Given the description of an element on the screen output the (x, y) to click on. 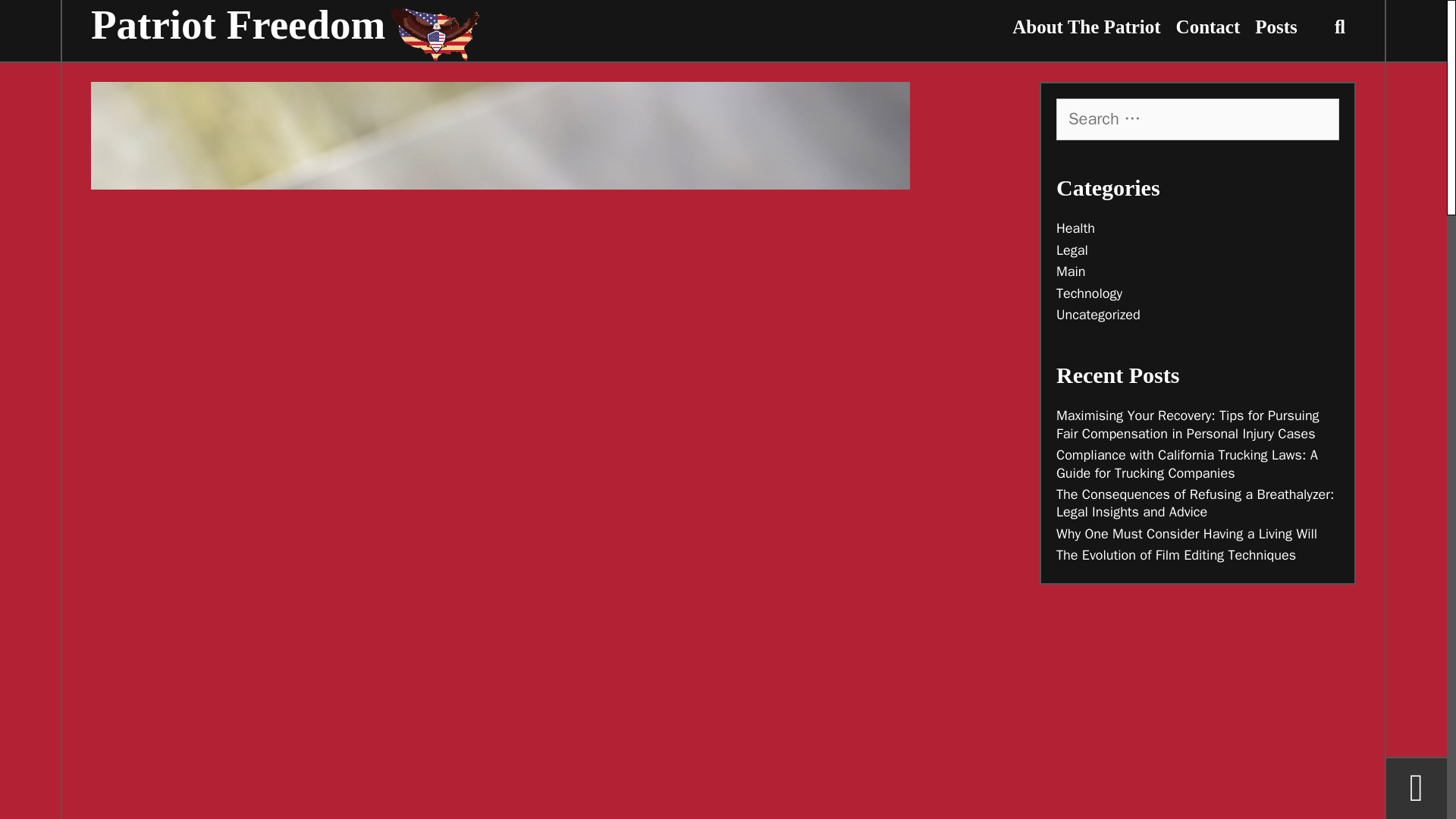
Search for: (1198, 119)
Search (40, 21)
Posts (1275, 27)
Patriot Freedom (476, 33)
The Evolution of Film Editing Techniques (1176, 555)
Contact (1208, 27)
Search (177, 27)
Patriot Freedom (476, 33)
Legal (1072, 249)
Why One Must Consider Having a Living Will (1187, 533)
Health (1075, 228)
Patriot Freedom (237, 24)
